Given the description of an element on the screen output the (x, y) to click on. 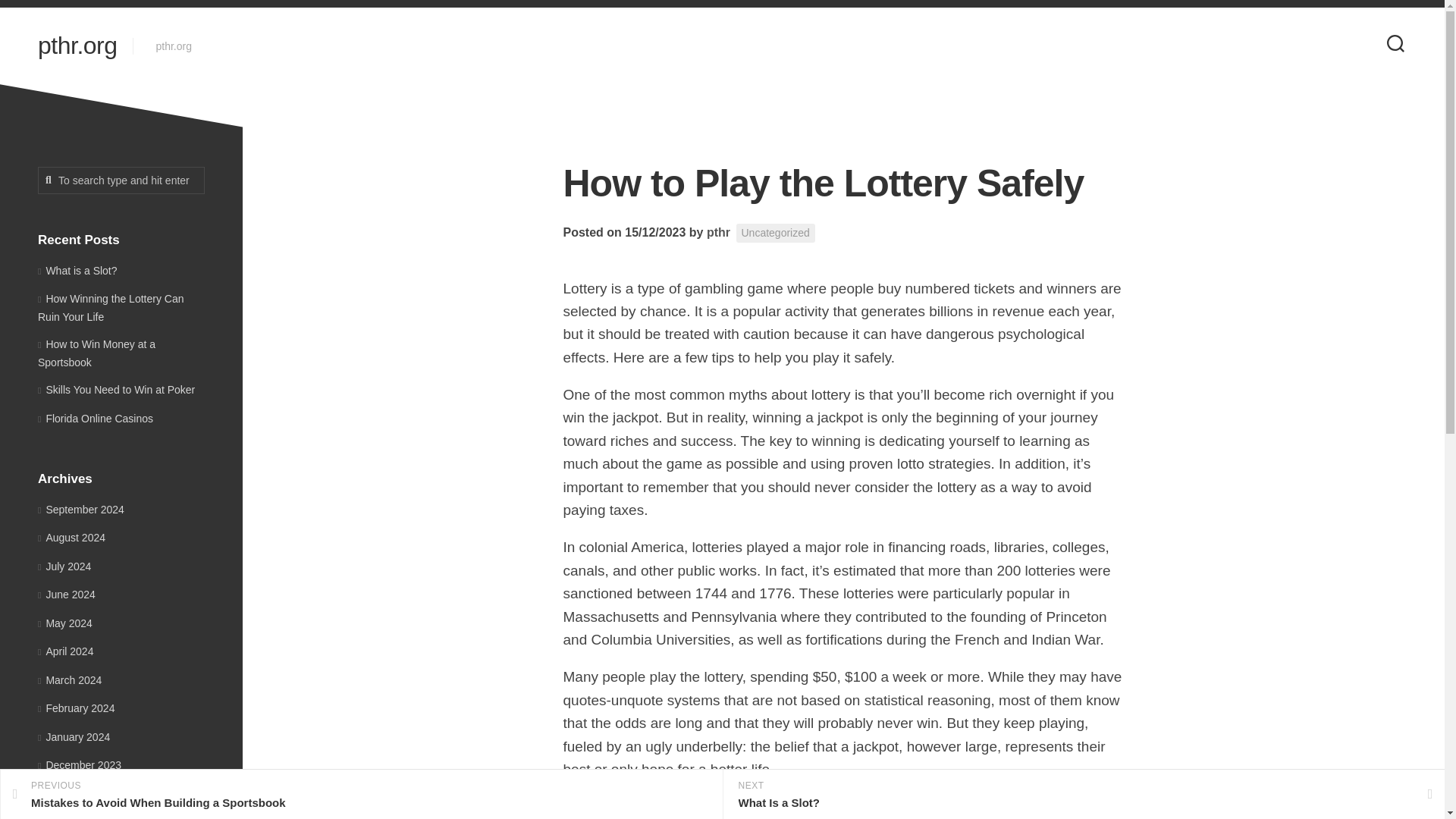
January 2024 (73, 736)
May 2024 (65, 623)
April 2024 (65, 651)
How Winning the Lottery Can Ruin Your Life (110, 307)
February 2024 (76, 707)
September 2024 (80, 509)
August 2024 (70, 537)
Skills You Need to Win at Poker (116, 389)
December 2023 (78, 765)
November 2023 (78, 793)
